Given the description of an element on the screen output the (x, y) to click on. 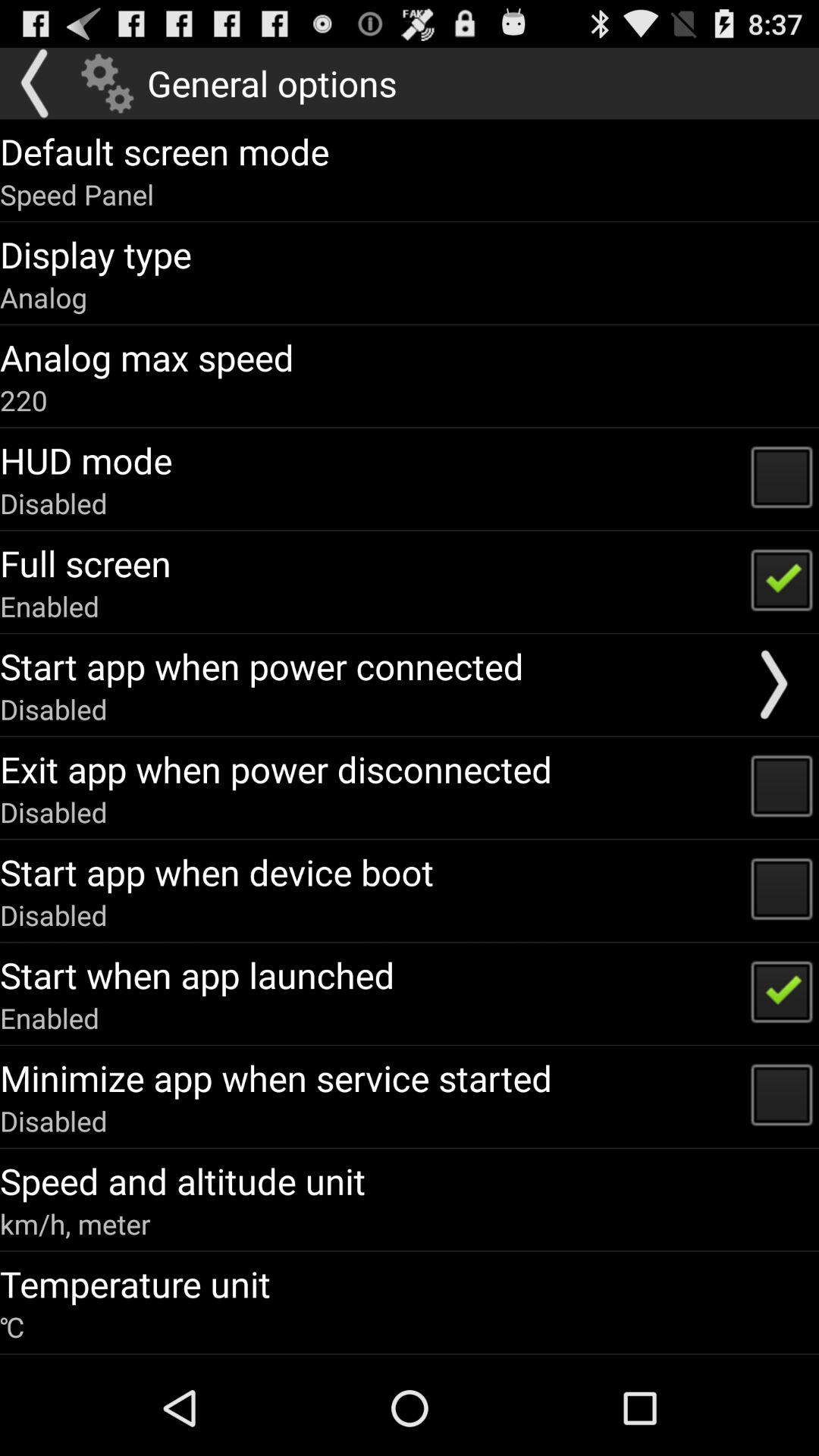
toggle setting option (107, 83)
